Given the description of an element on the screen output the (x, y) to click on. 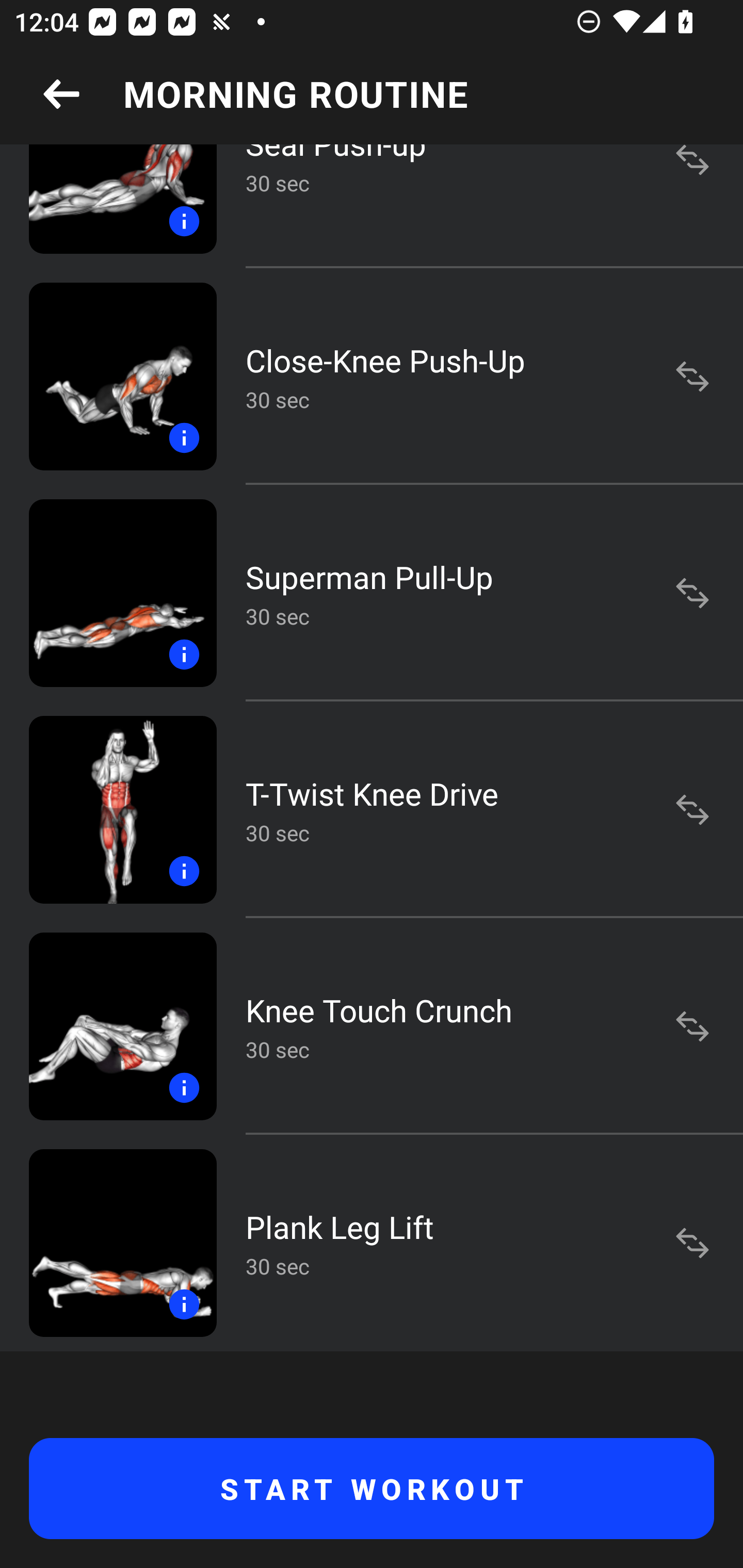
Seal Push-up 30 sec (371, 206)
Close-Knee Push-Up 30 sec (371, 376)
Superman Pull-Up 30 sec (371, 592)
T-Twist Knee Drive 30 sec (371, 809)
Knee Touch Crunch 30 sec (371, 1026)
Plank Leg Lift 30 sec (371, 1243)
START WORKOUT (371, 1488)
